Given the description of an element on the screen output the (x, y) to click on. 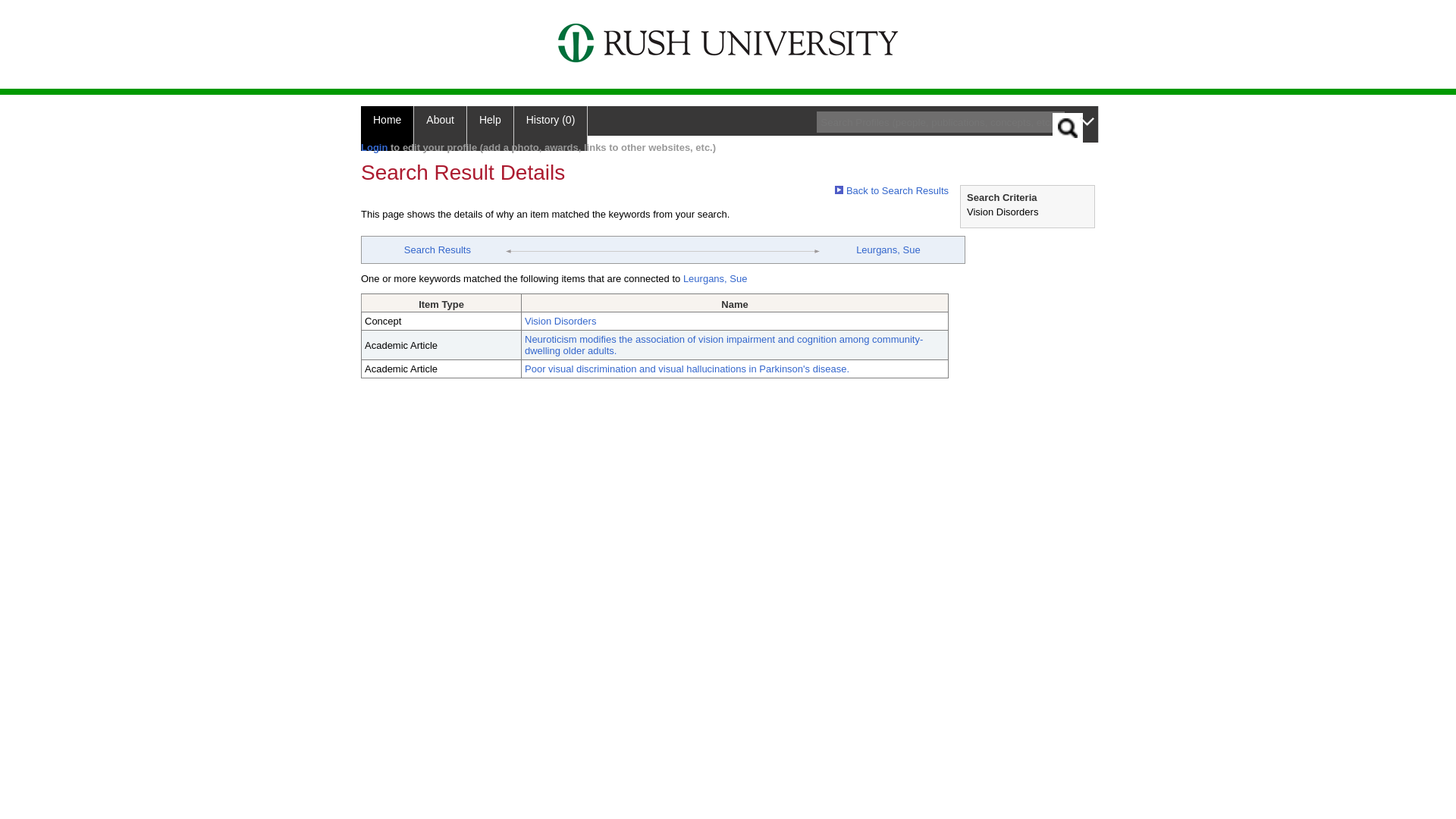
Leurgans, Sue (715, 278)
About (440, 128)
Vision Disorders (559, 320)
Help (490, 128)
Home (387, 128)
Login (374, 147)
Leurgans, Sue (888, 249)
Search Results (437, 249)
Back to Search Results (891, 190)
